Given the description of an element on the screen output the (x, y) to click on. 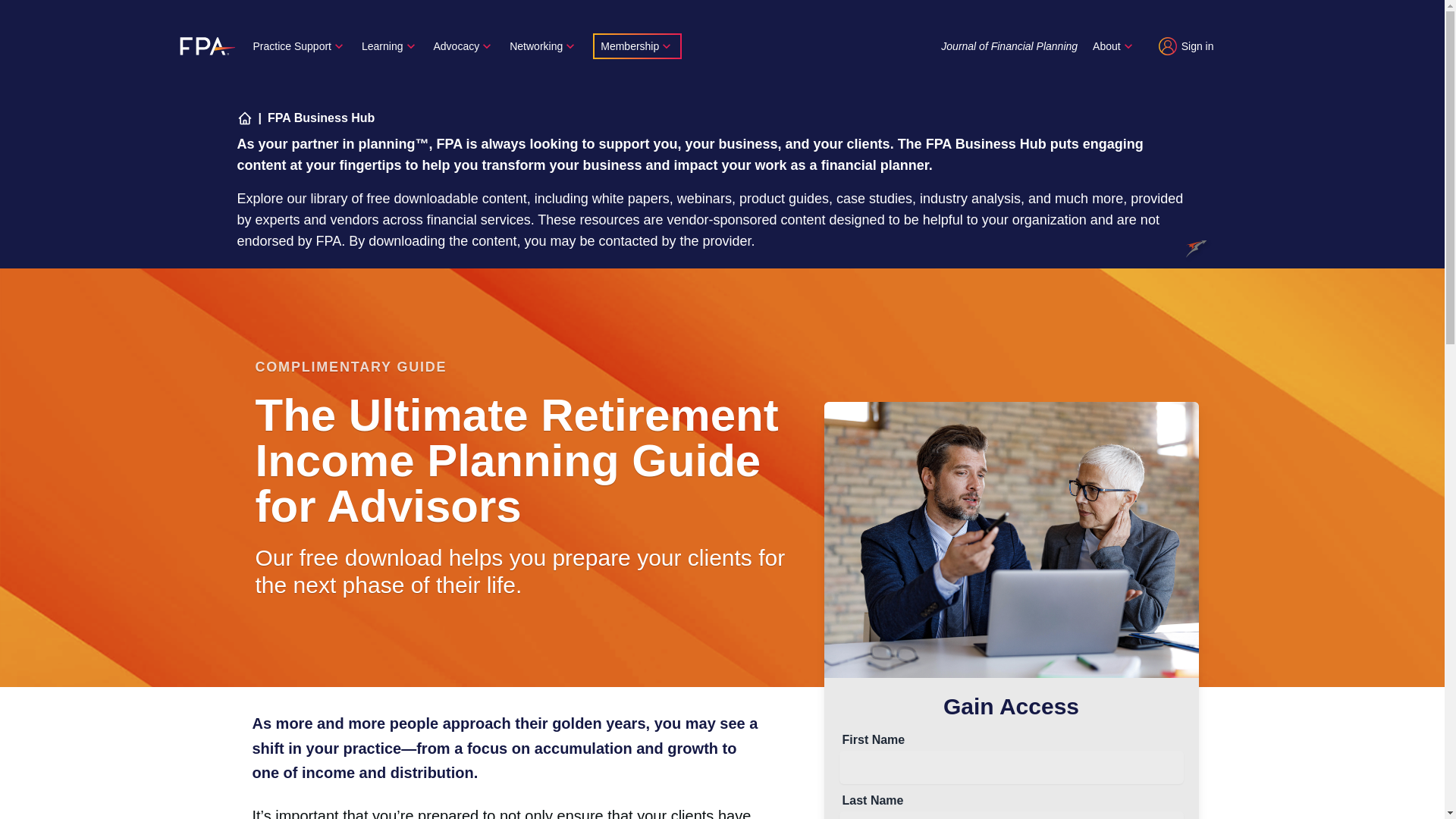
Practice Support (300, 46)
Networking (543, 46)
Learning (390, 46)
Advocacy (464, 46)
Membership (636, 46)
